Given the description of an element on the screen output the (x, y) to click on. 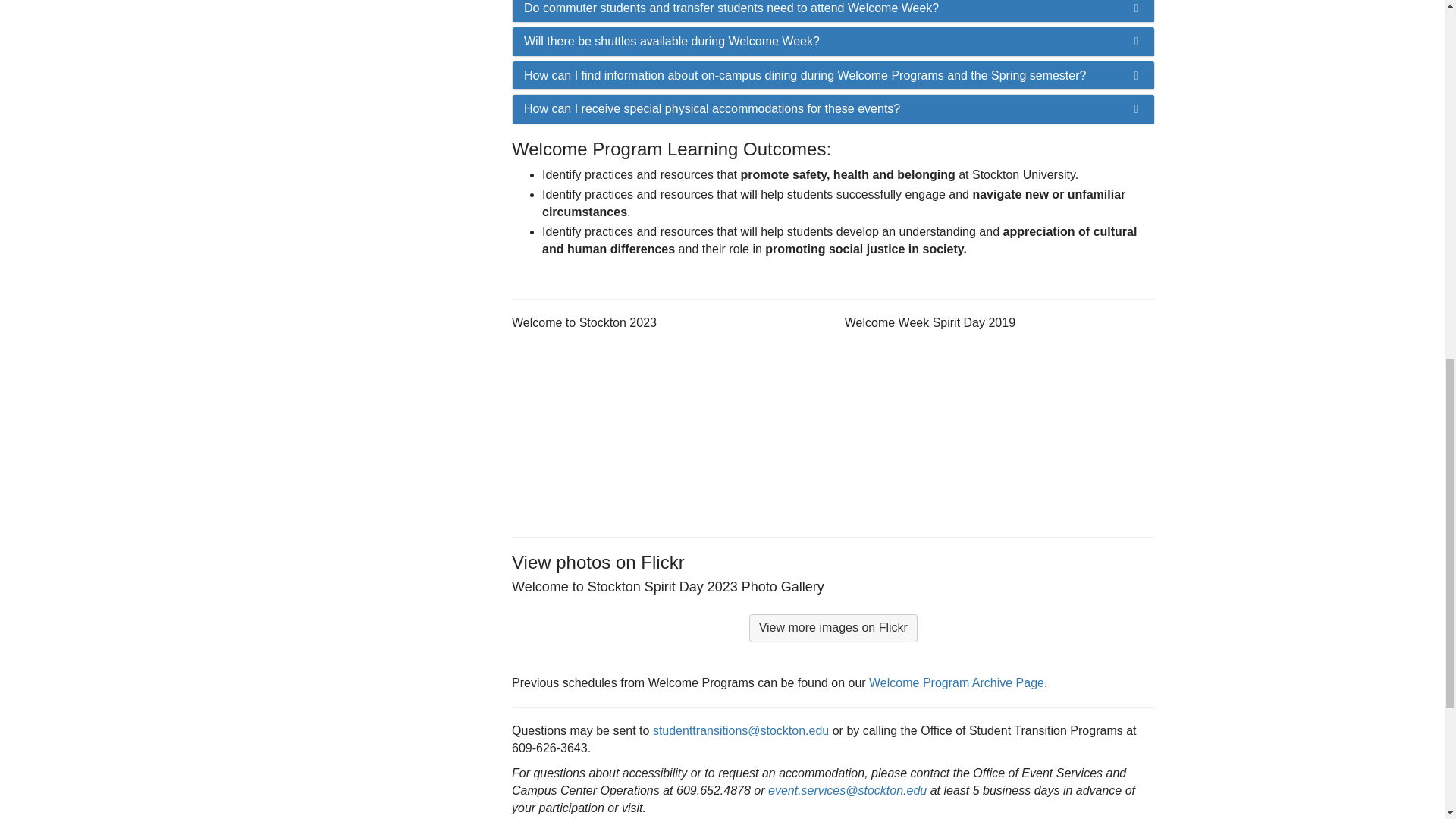
Stockton University Welcome Programs 2023 (667, 426)
Welcome Week Spirit Day 2019 (999, 426)
Will there be shuttles available during Welcome Week? (833, 41)
